Given the description of an element on the screen output the (x, y) to click on. 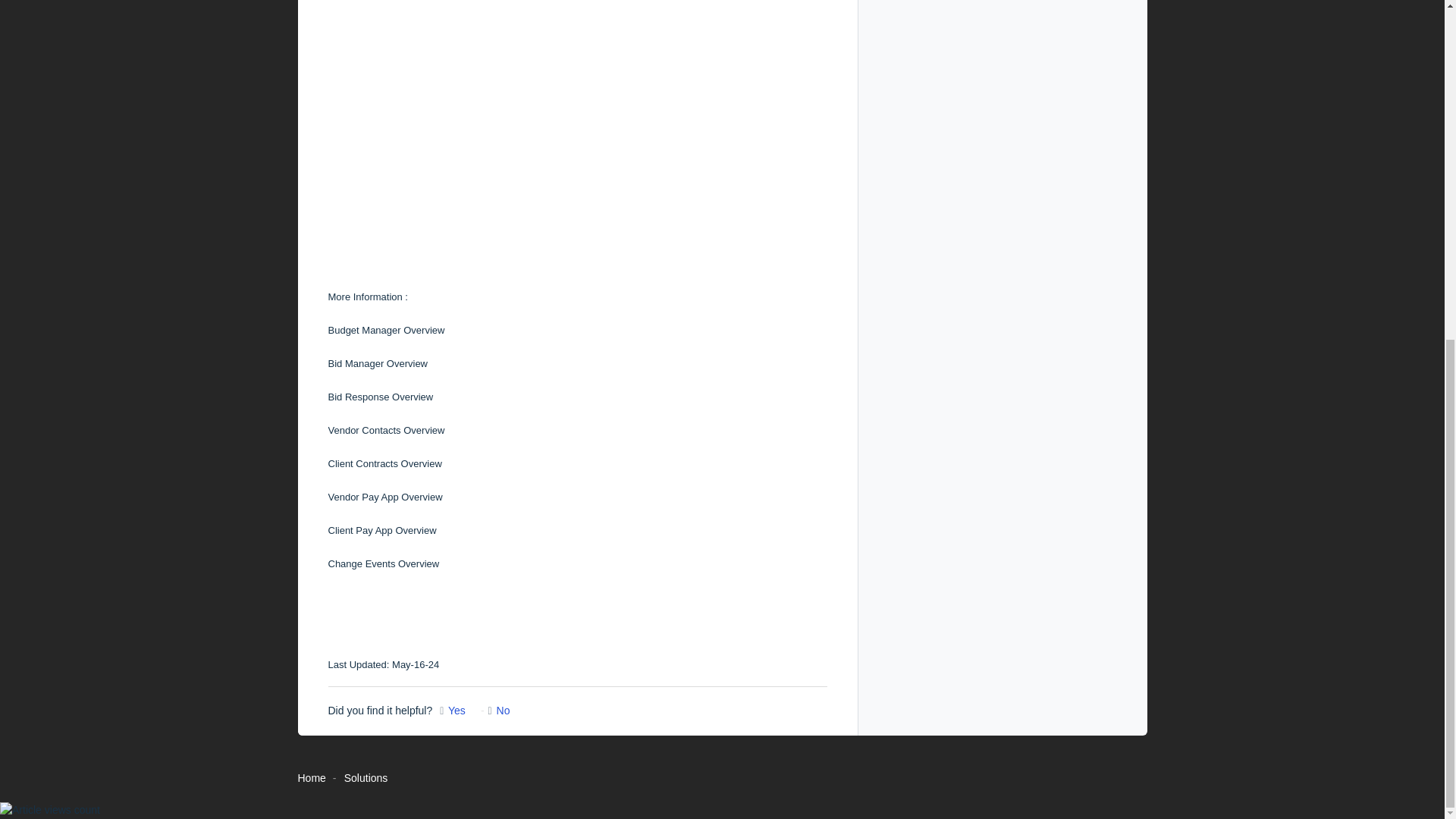
Client Pay App Overview (381, 530)
Change Events Overview (383, 563)
Vendor Contacts Overview (385, 430)
Bid Response Overview (379, 396)
Solutions (365, 777)
Bid Manager Overview (377, 363)
Client Contracts Overview (384, 463)
Budget Manager Overview  (386, 329)
Home (310, 777)
Vendor Pay App Overview (384, 496)
